Given the description of an element on the screen output the (x, y) to click on. 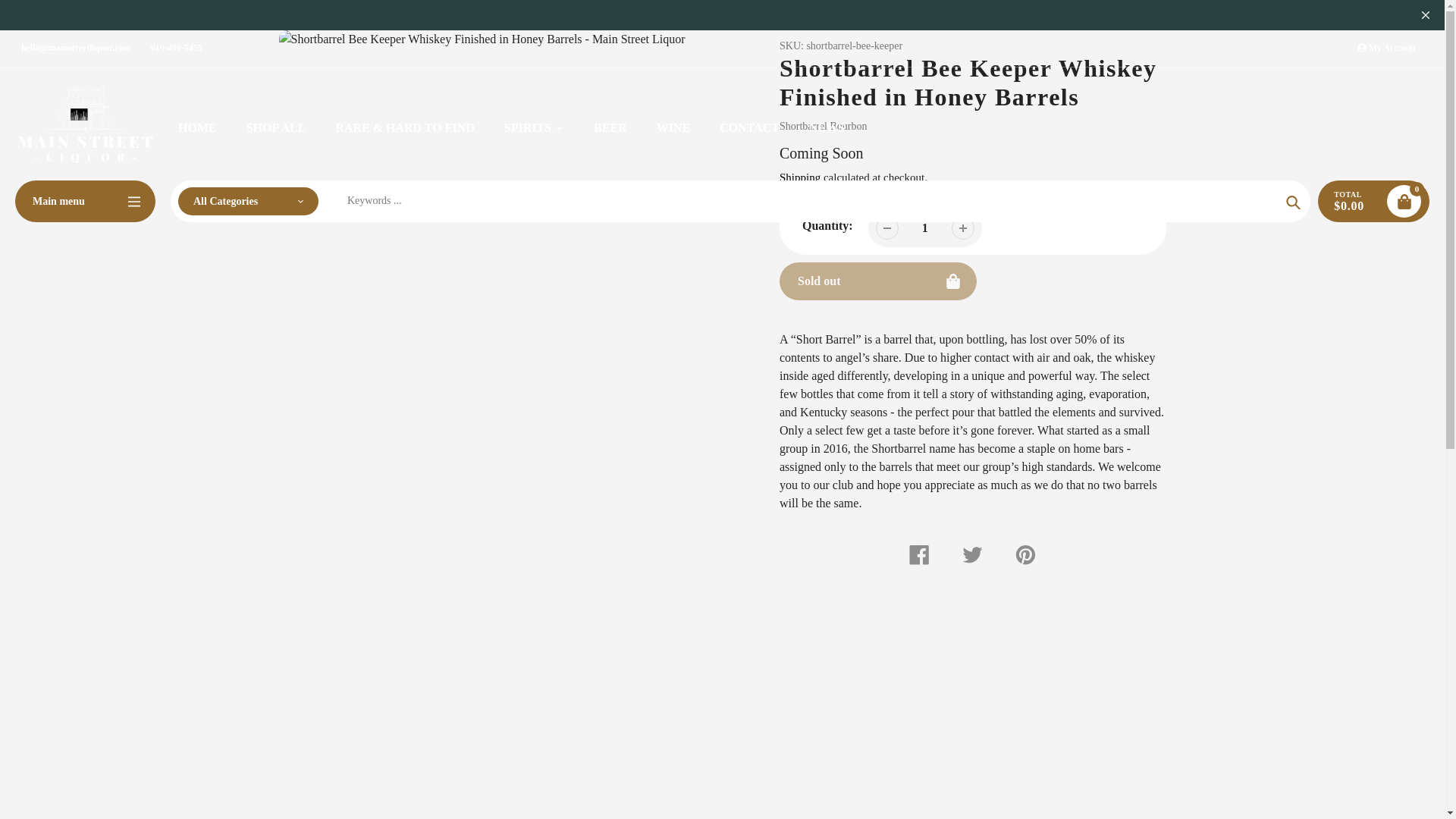
SPIRITS (533, 127)
619-499-5455 (176, 48)
HOME (196, 127)
1 (925, 227)
My Account (1386, 48)
CONTACT (748, 127)
NEWS (826, 127)
BEER (610, 127)
WINE (673, 127)
SHOP ALL (275, 127)
Main menu (84, 200)
